Given the description of an element on the screen output the (x, y) to click on. 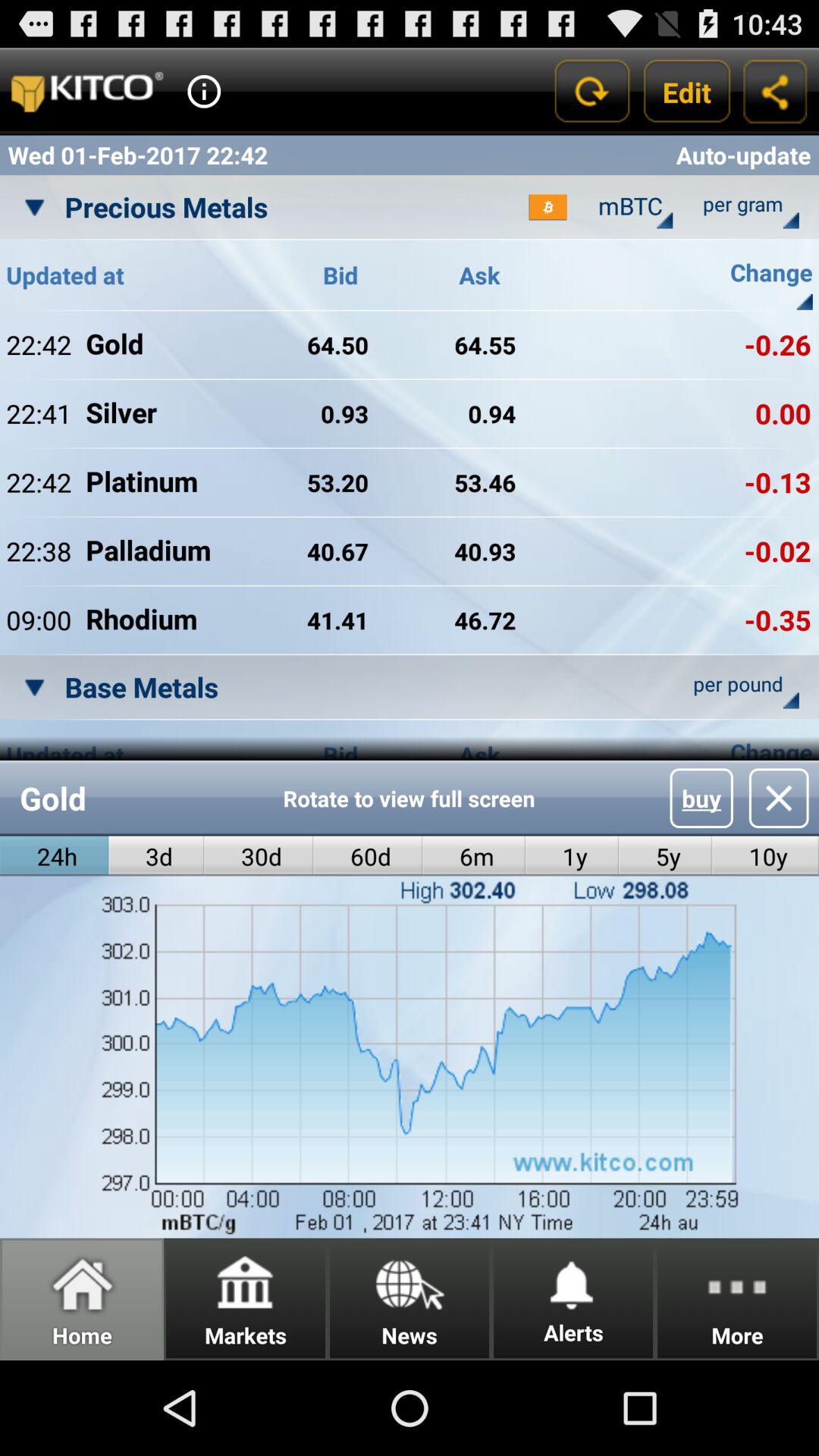
refresh the page (591, 91)
